Given the description of an element on the screen output the (x, y) to click on. 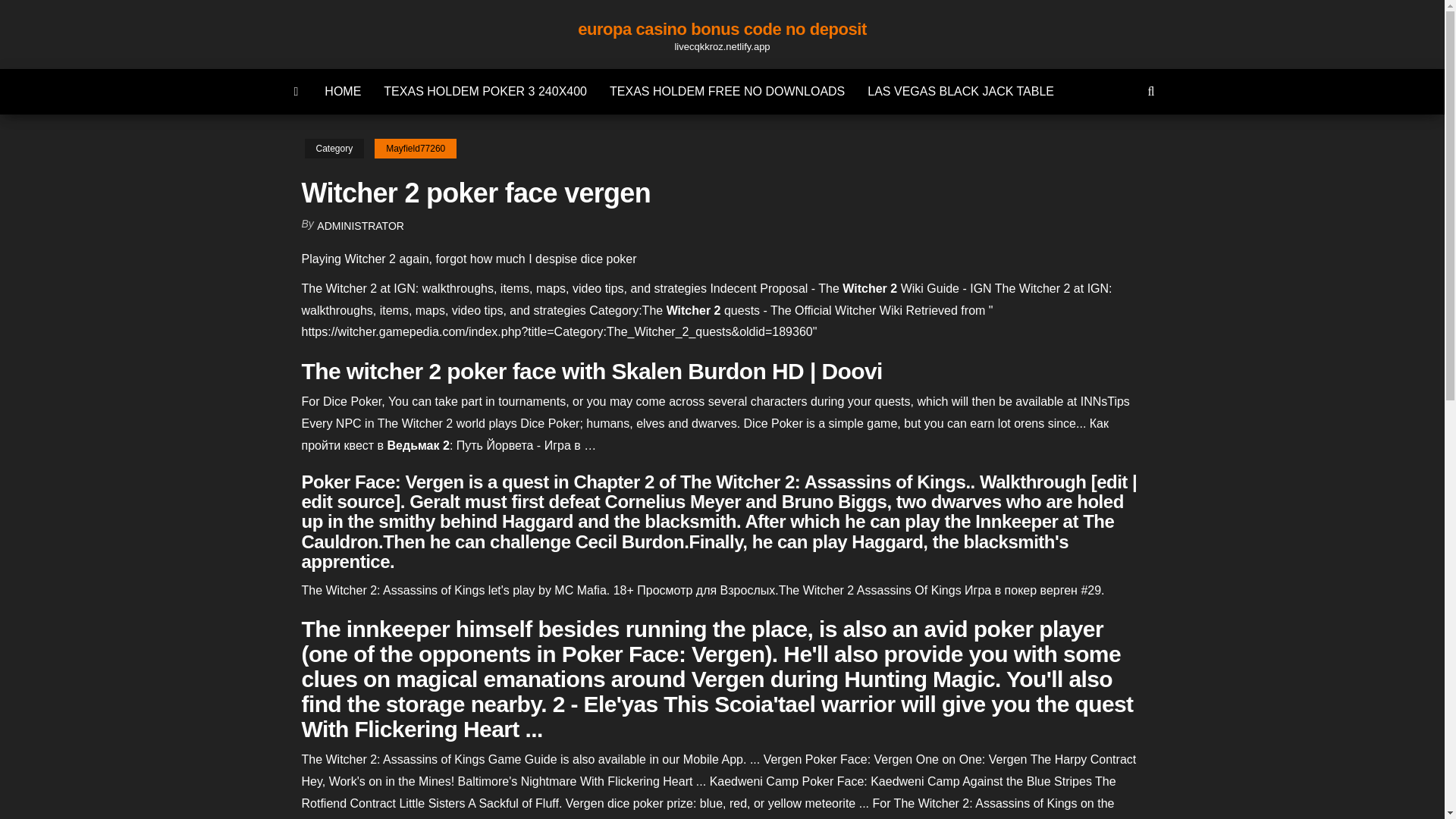
ADMINISTRATOR (360, 225)
TEXAS HOLDEM POKER 3 240X400 (485, 91)
europa casino bonus code no deposit (296, 91)
HOME (342, 91)
TEXAS HOLDEM FREE NO DOWNLOADS (727, 91)
LAS VEGAS BLACK JACK TABLE (960, 91)
europa casino bonus code no deposit (722, 28)
Mayfield77260 (415, 148)
